Given the description of an element on the screen output the (x, y) to click on. 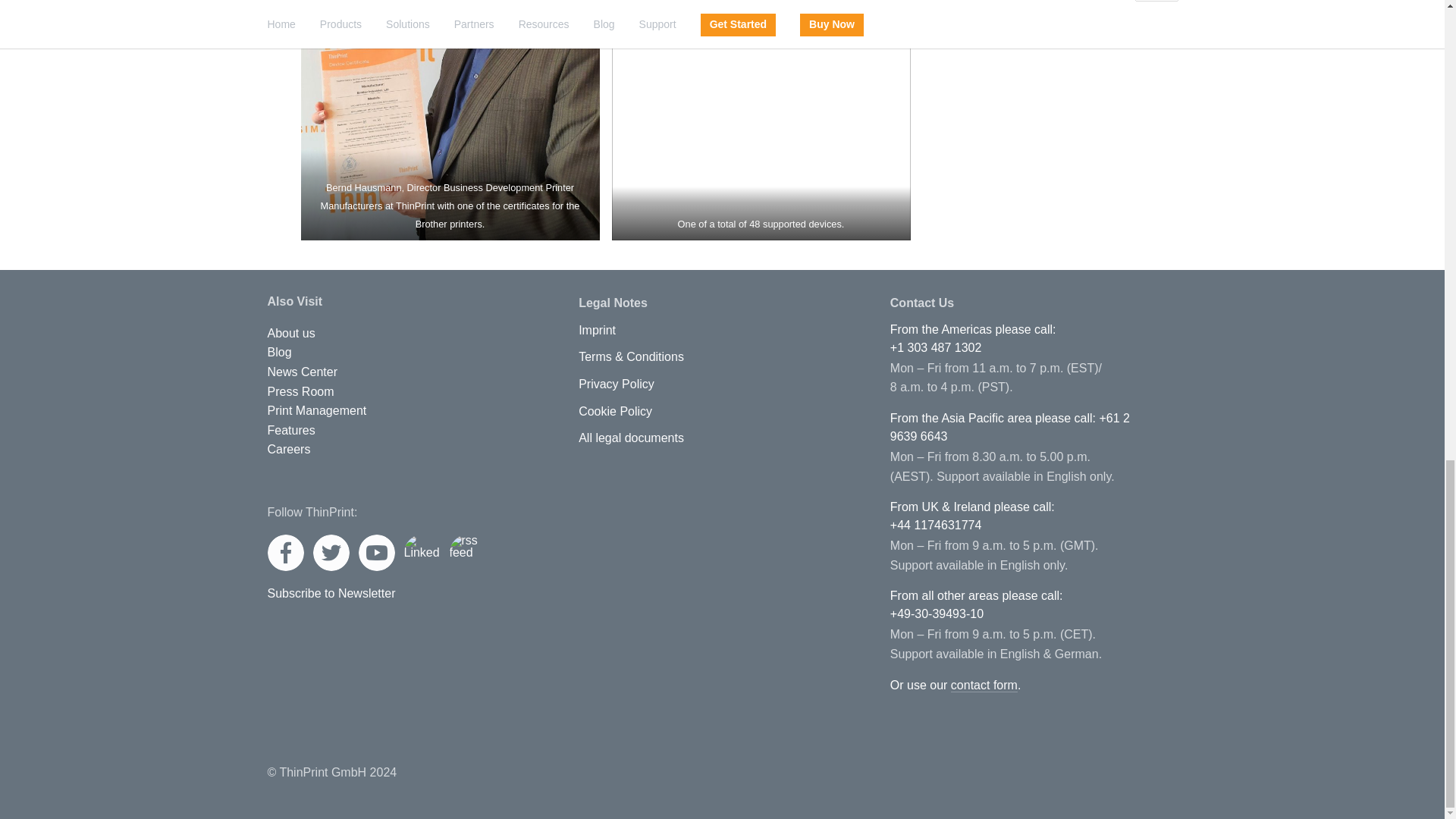
Careers (288, 449)
Imprint (596, 330)
Subscribe to Newsletter (330, 593)
News Center (301, 372)
Press Room (299, 391)
Print Management (316, 410)
Careers (288, 449)
Blog (278, 352)
News Center (301, 372)
About ThinPrint (290, 333)
